Given the description of an element on the screen output the (x, y) to click on. 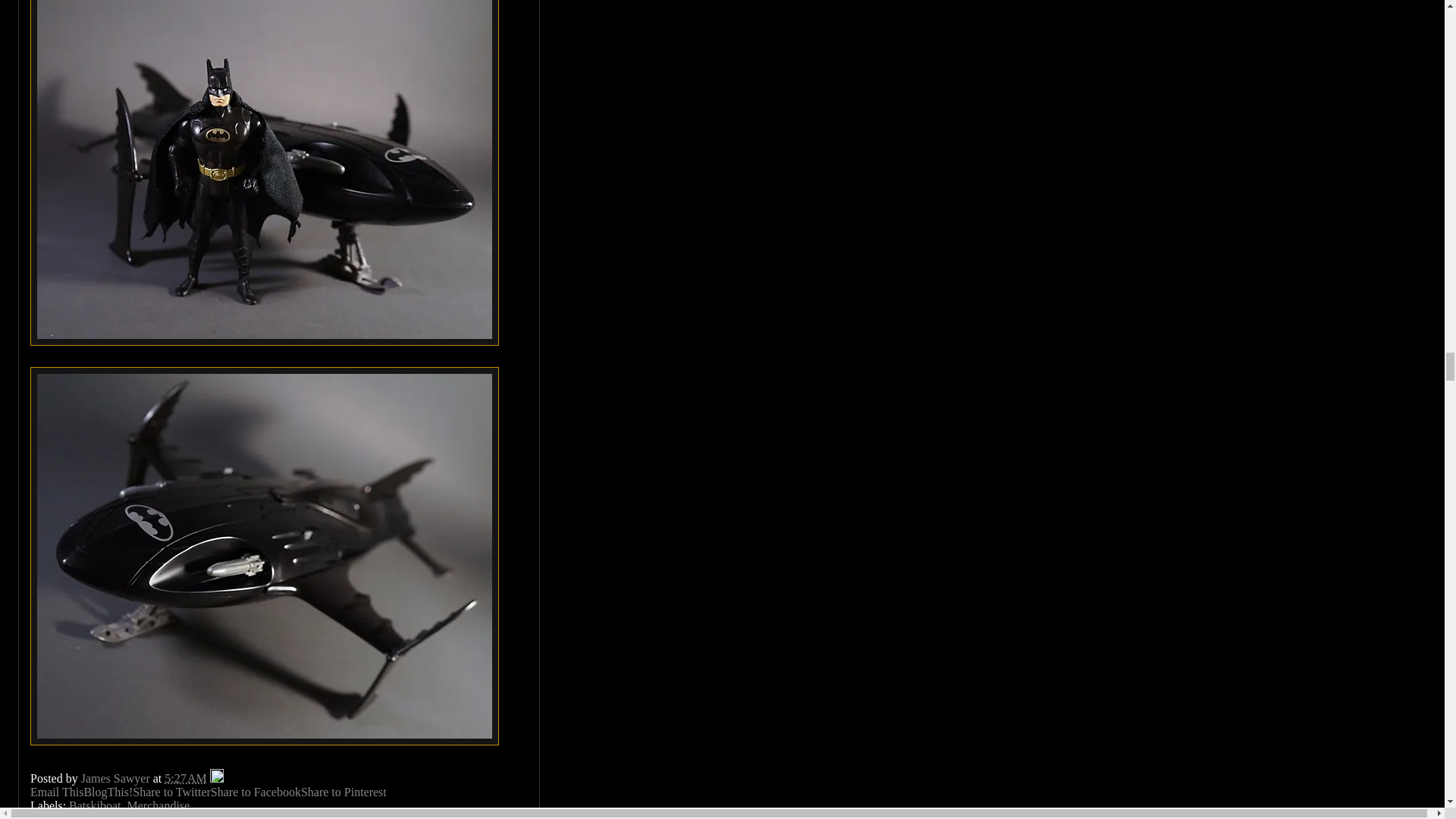
Share to Twitter (171, 791)
Batskiboat (94, 805)
permanent link (185, 778)
Share to Facebook (256, 791)
Email This (56, 791)
James Sawyer (116, 778)
Share to Pinterest (344, 791)
Share to Twitter (171, 791)
author profile (116, 778)
BlogThis! (107, 791)
Merchandise (159, 805)
Share to Facebook (256, 791)
Share to Pinterest (344, 791)
Email This (56, 791)
